Given the description of an element on the screen output the (x, y) to click on. 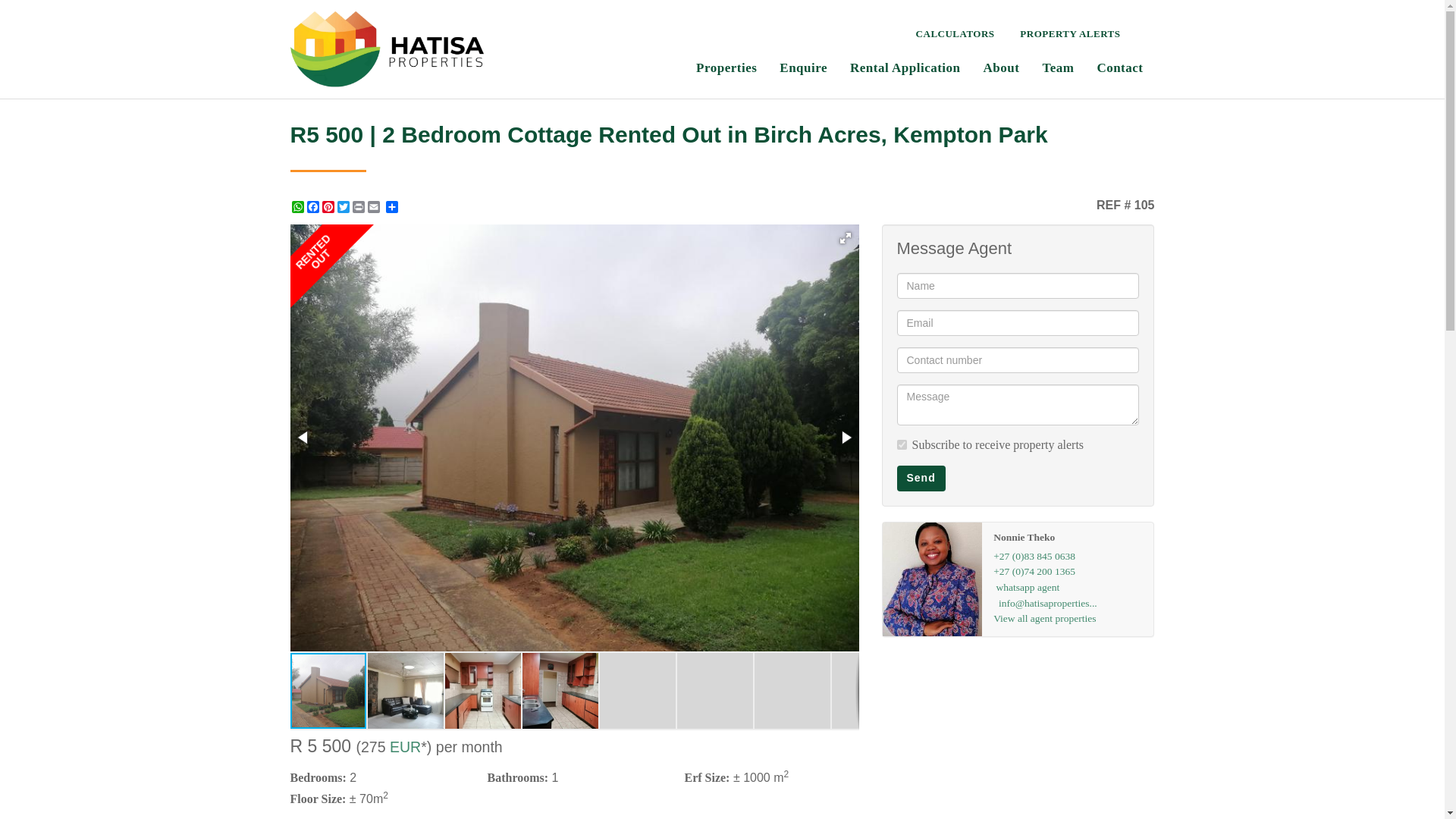
Twitter (342, 206)
Contact (1119, 66)
Facebook (312, 206)
 PROPERTY ALERTS (1069, 32)
Team (1057, 66)
About (1001, 66)
EUR (405, 746)
Pinterest (327, 206)
on (900, 444)
Print (357, 206)
